Given the description of an element on the screen output the (x, y) to click on. 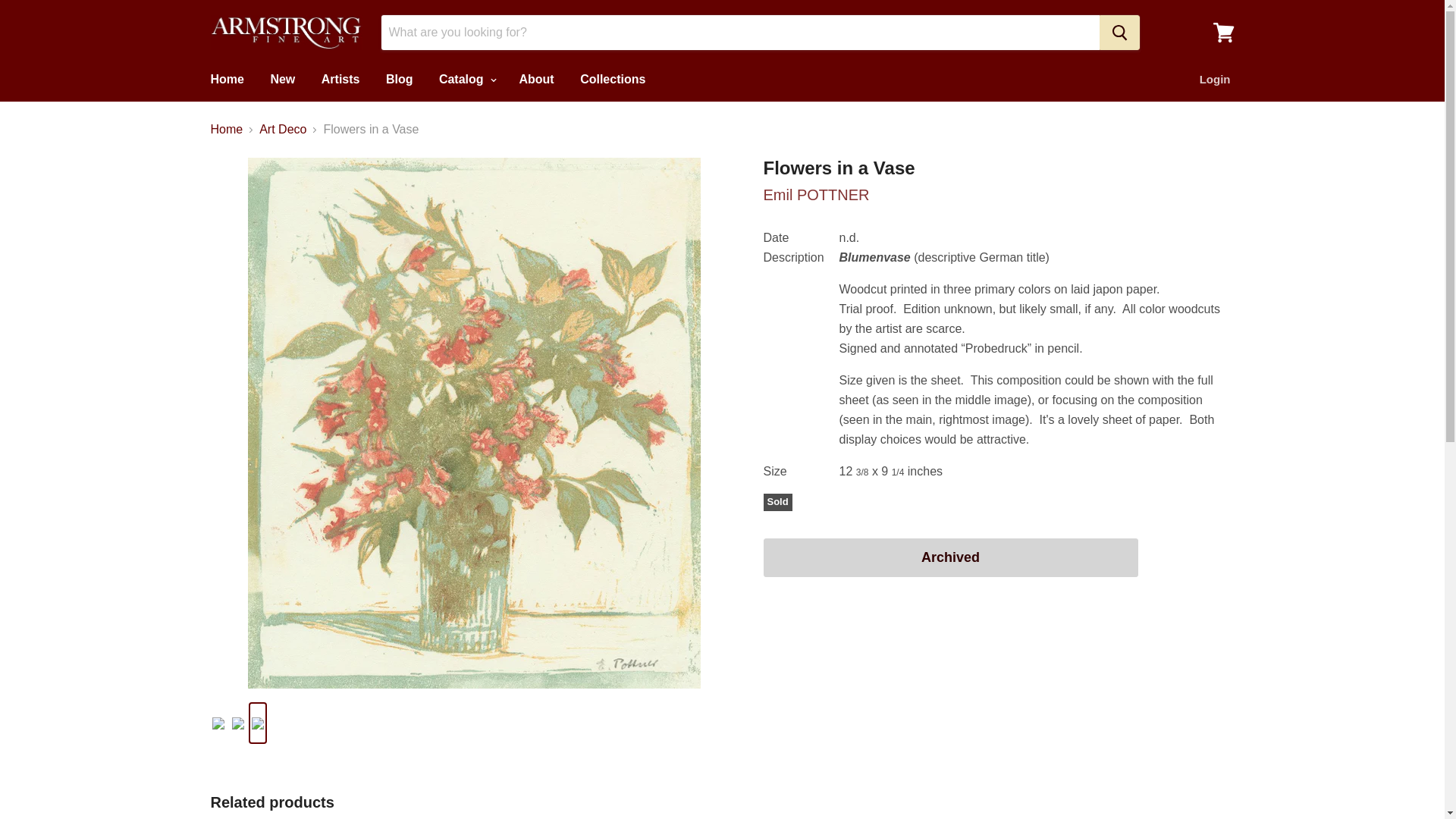
Home (226, 79)
Catalog (465, 79)
Blog (399, 79)
View cart (1223, 32)
New (282, 79)
Artists (340, 79)
